Given the description of an element on the screen output the (x, y) to click on. 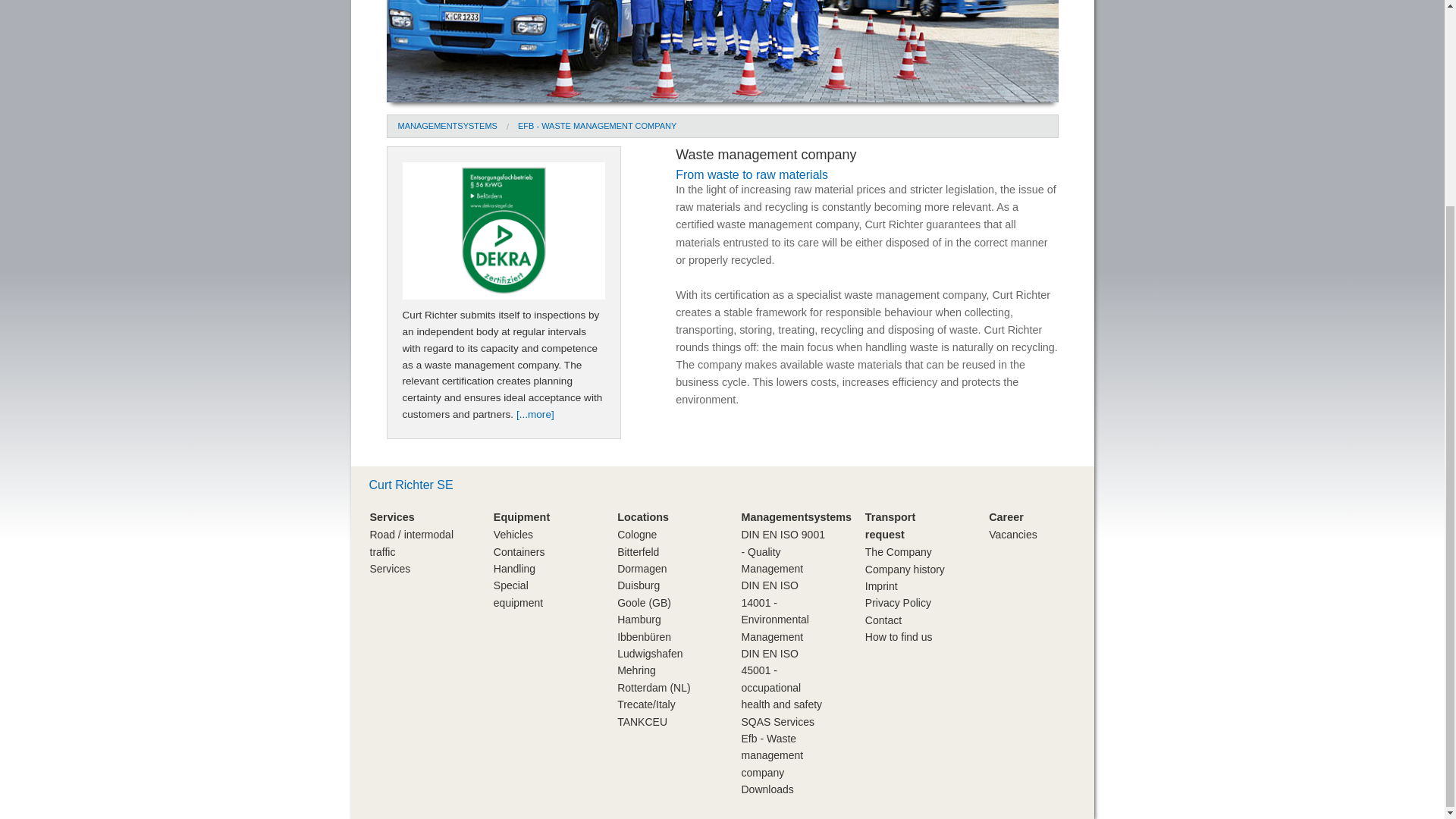
TANKCEU (619, 122)
Hamburg (619, 10)
Certificates for download (535, 414)
Ludwigshafen (619, 47)
Mehring (619, 66)
